Given the description of an element on the screen output the (x, y) to click on. 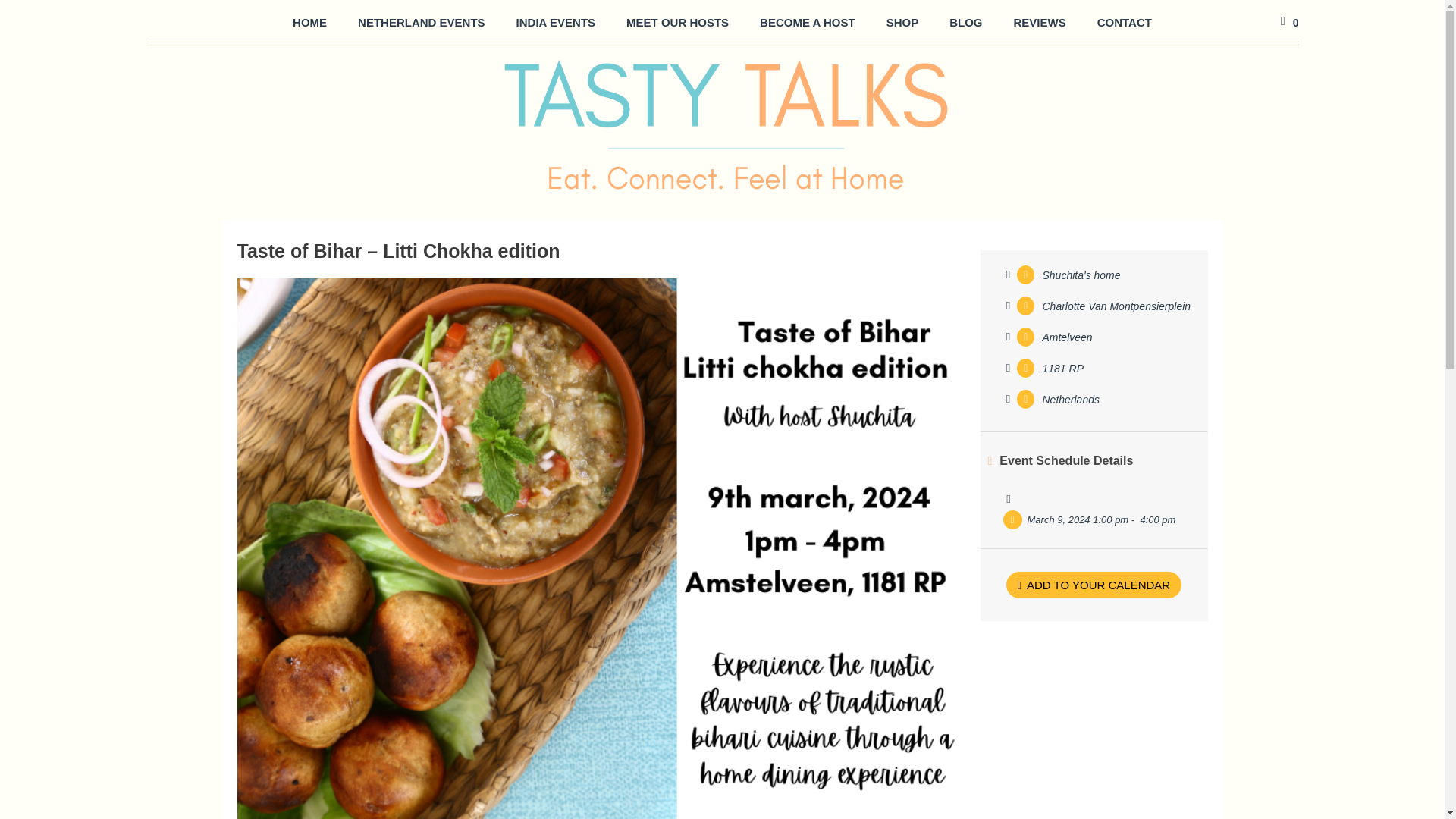
INDIA EVENTS (555, 22)
CONTACT (1124, 22)
HOME (310, 22)
NETHERLAND EVENTS (421, 22)
REVIEWS (1038, 22)
BLOG (965, 22)
BECOME A HOST (807, 22)
SHOP (902, 22)
MEET OUR HOSTS (677, 22)
0 (1287, 20)
